Given the description of an element on the screen output the (x, y) to click on. 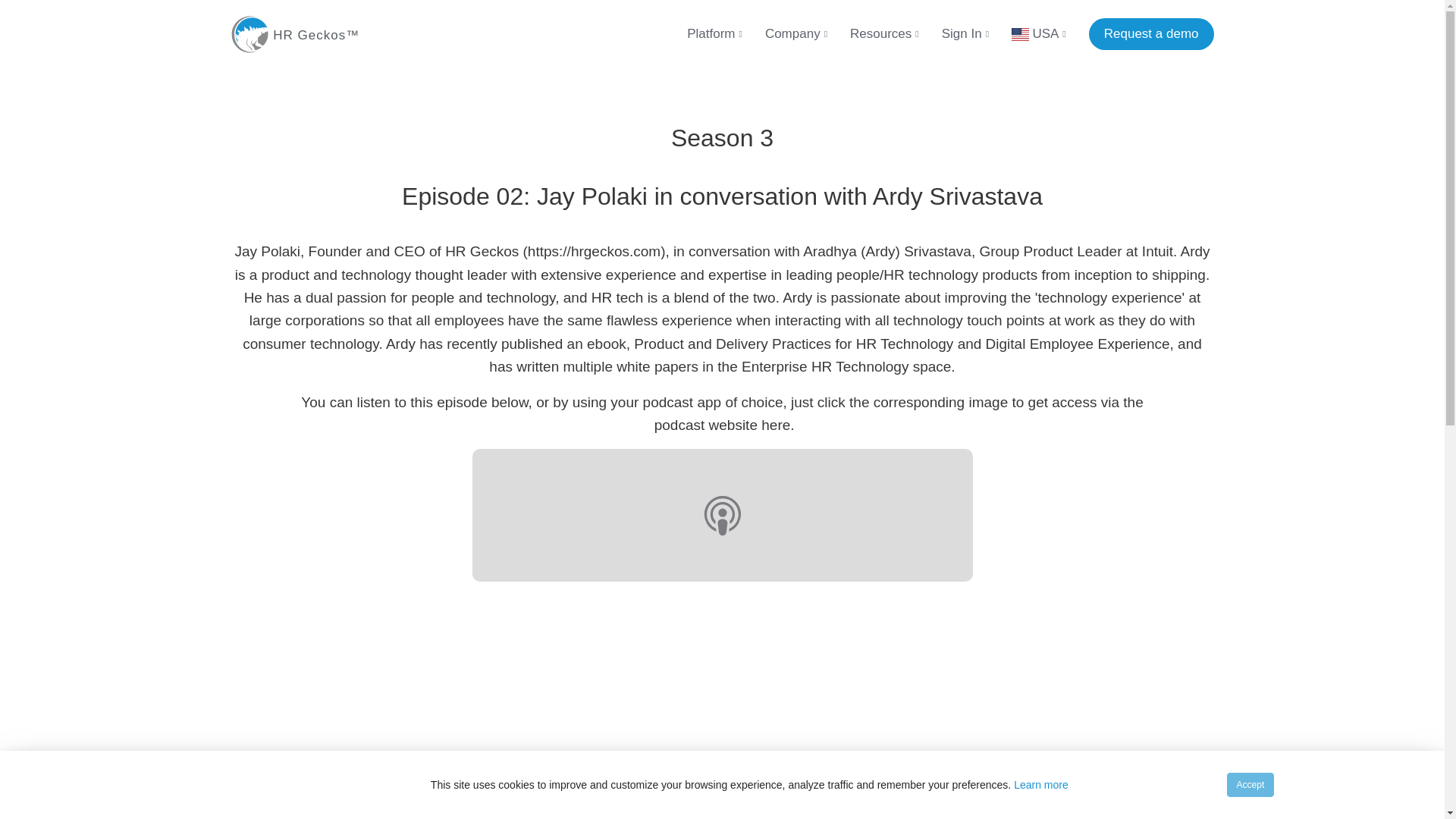
Platform (702, 33)
Resources (872, 33)
Request a demo (1151, 33)
Accept (1251, 784)
Request a demo (1151, 33)
Company (784, 33)
Learn more (1040, 784)
 USA (1026, 33)
 podcast website here. (721, 424)
